Given the description of an element on the screen output the (x, y) to click on. 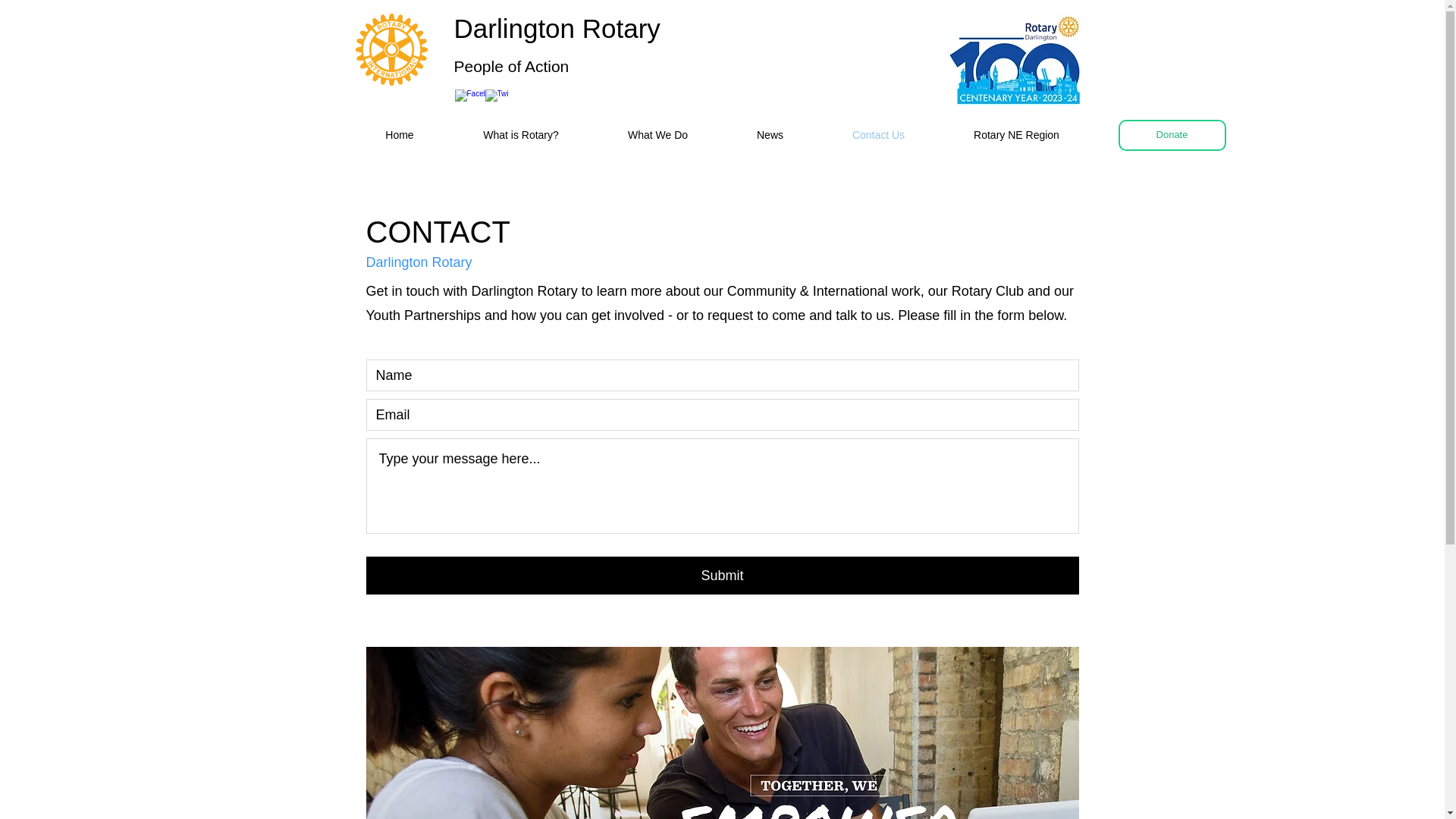
Contact Us (877, 135)
What is Rotary? (521, 135)
Donate (1171, 134)
Rotary NE Region (1016, 135)
What We Do (657, 135)
Home (399, 135)
News (769, 135)
Darlington Rotary (555, 28)
Submit (721, 575)
